Given the description of an element on the screen output the (x, y) to click on. 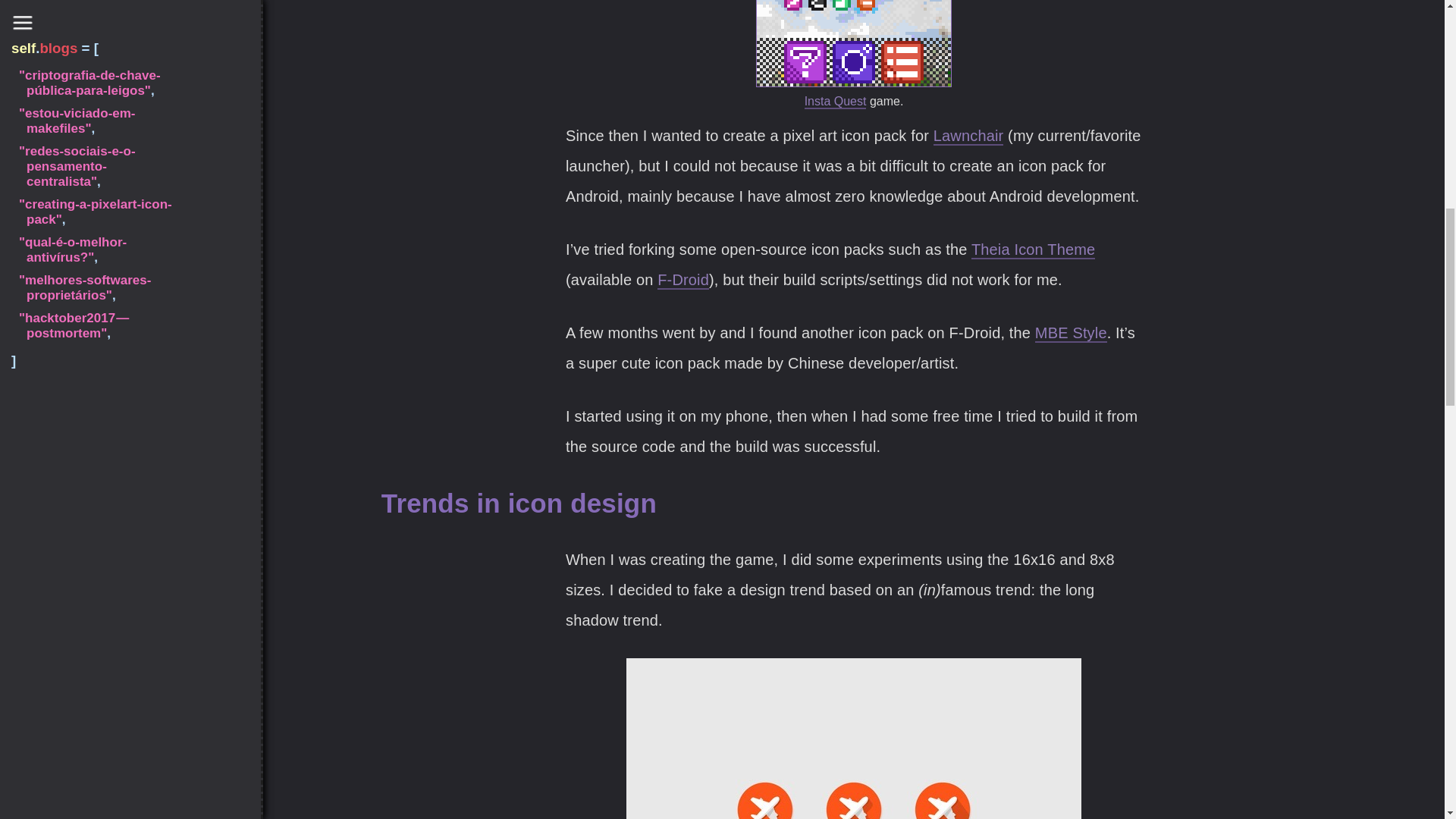
F-Droid (683, 280)
Insta Quest (835, 101)
about me (62, 747)
tags (49, 774)
Theia Icon Theme (1032, 249)
Lawnchair (968, 136)
MBE Style (1070, 333)
home (52, 733)
posts (51, 760)
donations (63, 788)
